Given the description of an element on the screen output the (x, y) to click on. 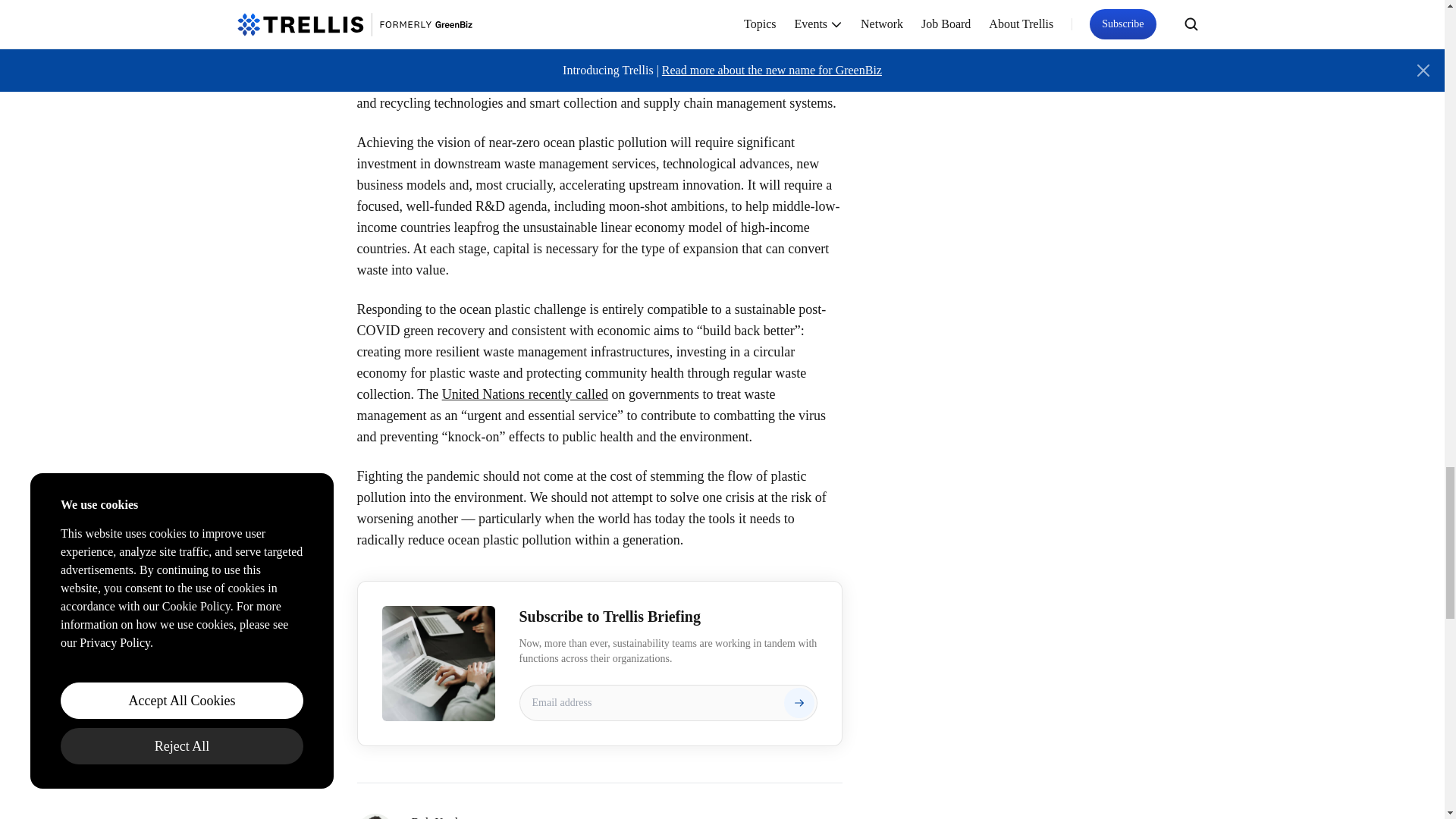
Rob Kaplan (625, 816)
United Nations recently called (525, 394)
Subscribe (798, 702)
